Given the description of an element on the screen output the (x, y) to click on. 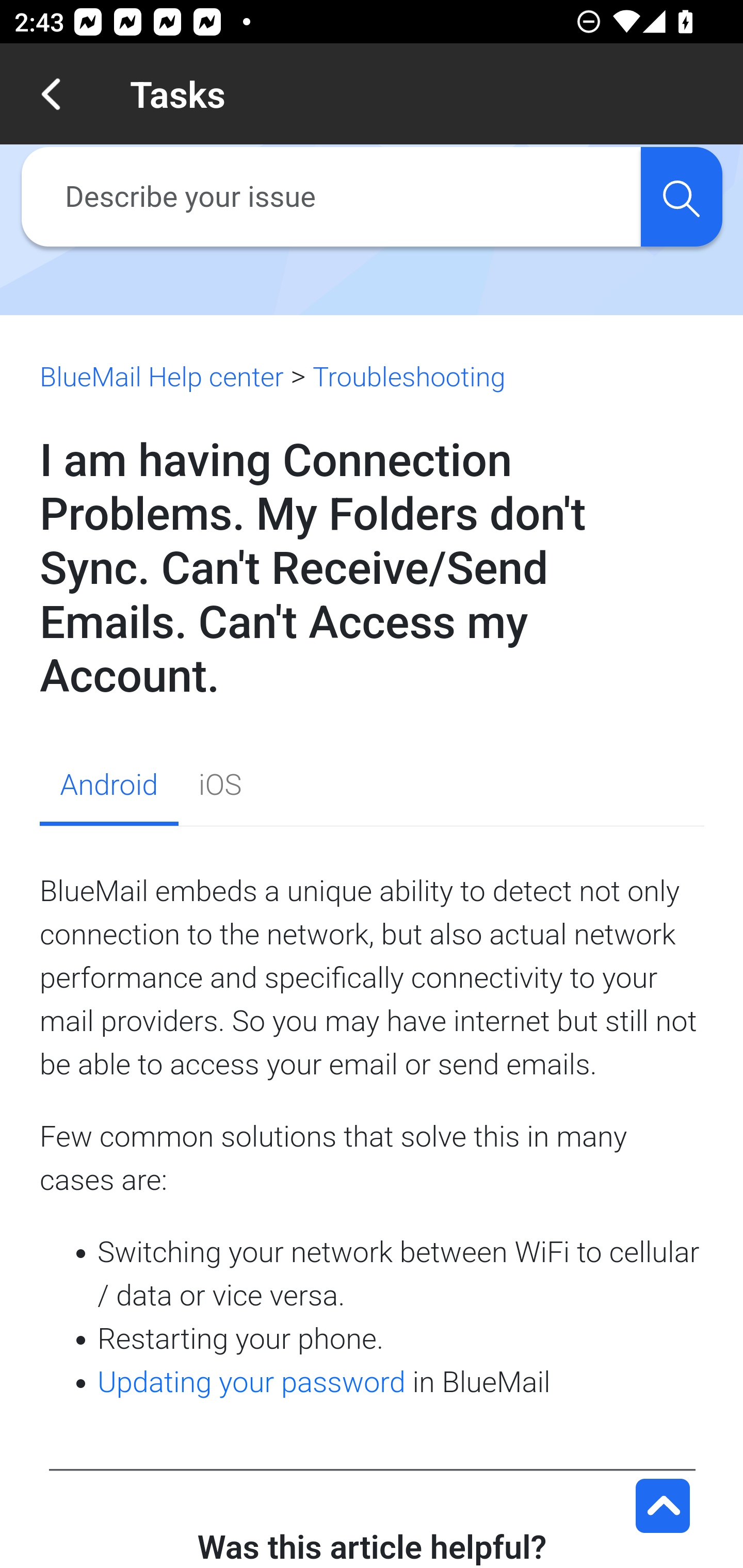
Navigate up (50, 93)
search (680, 196)
BlueMail Help center BlueMail  Help center (162, 376)
Troubleshooting (407, 376)
Android (108, 787)
iOS (219, 787)
U﻿pdating your password (251, 1382)
